Given the description of an element on the screen output the (x, y) to click on. 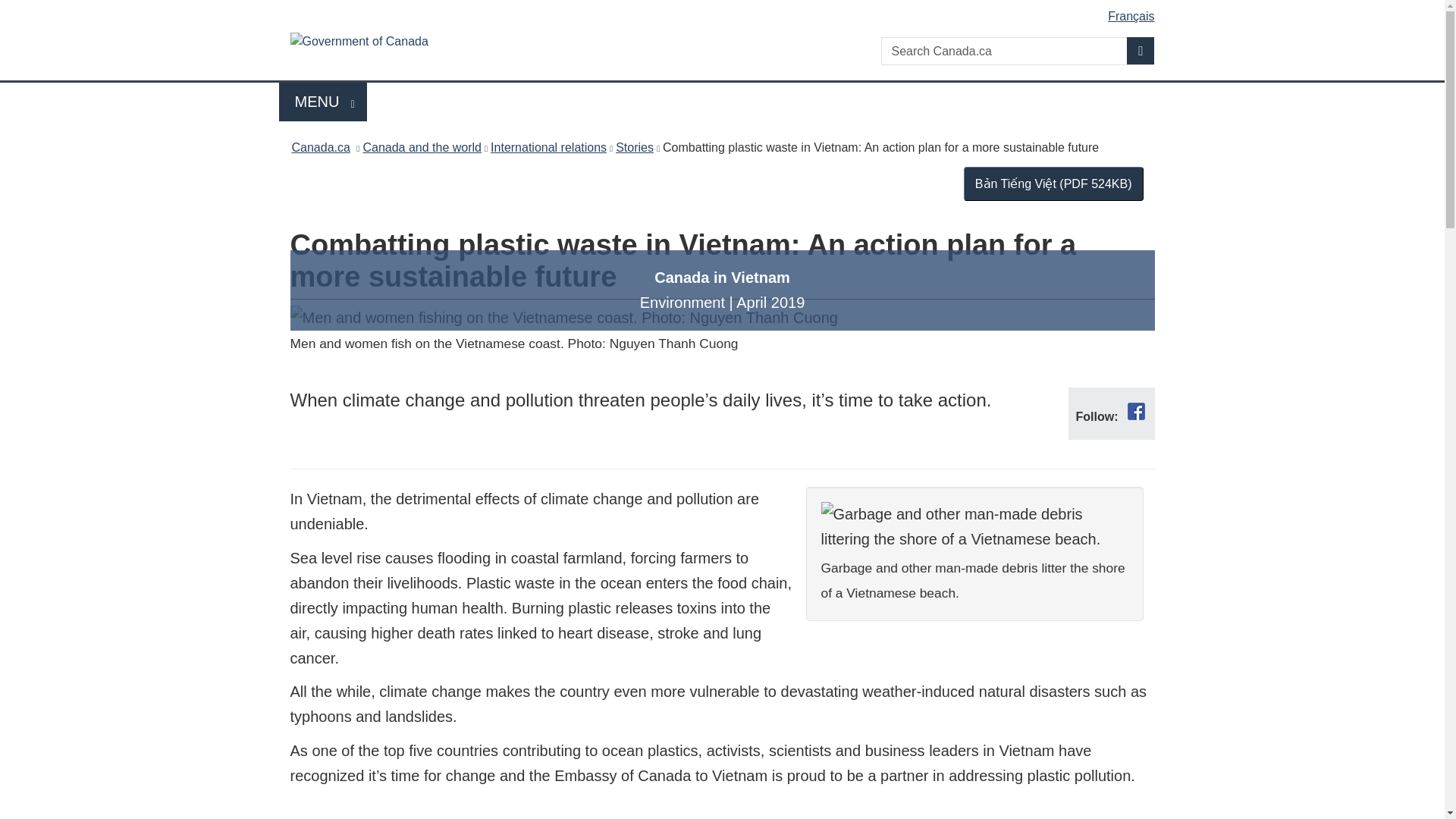
Skip to main content (725, 11)
International relations (548, 147)
Stories (634, 147)
Canada.ca (320, 147)
Canada and the world (421, 147)
Government of Canada (425, 43)
Search (322, 101)
